Given the description of an element on the screen output the (x, y) to click on. 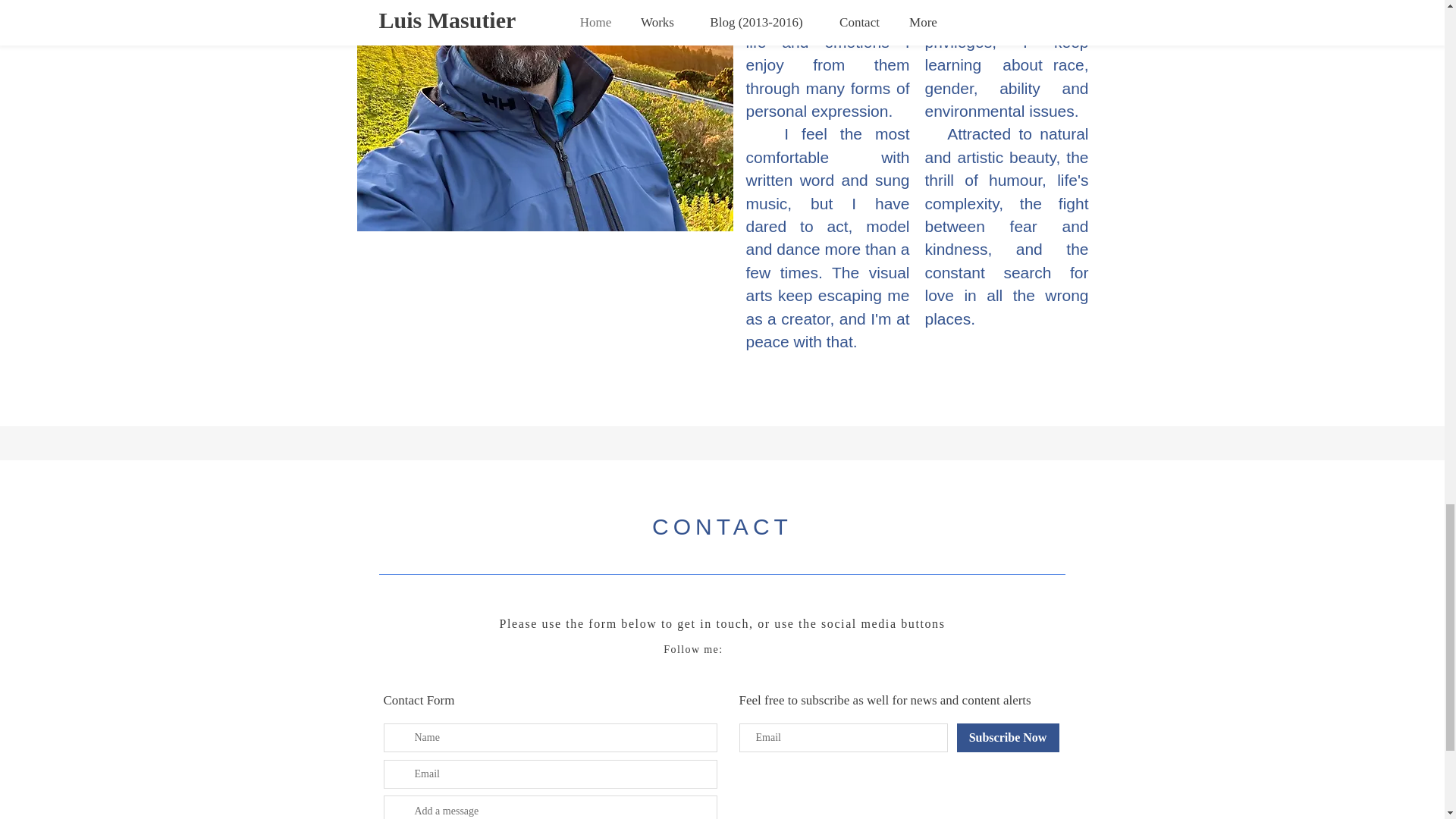
Subscribe Now (1007, 737)
